Given the description of an element on the screen output the (x, y) to click on. 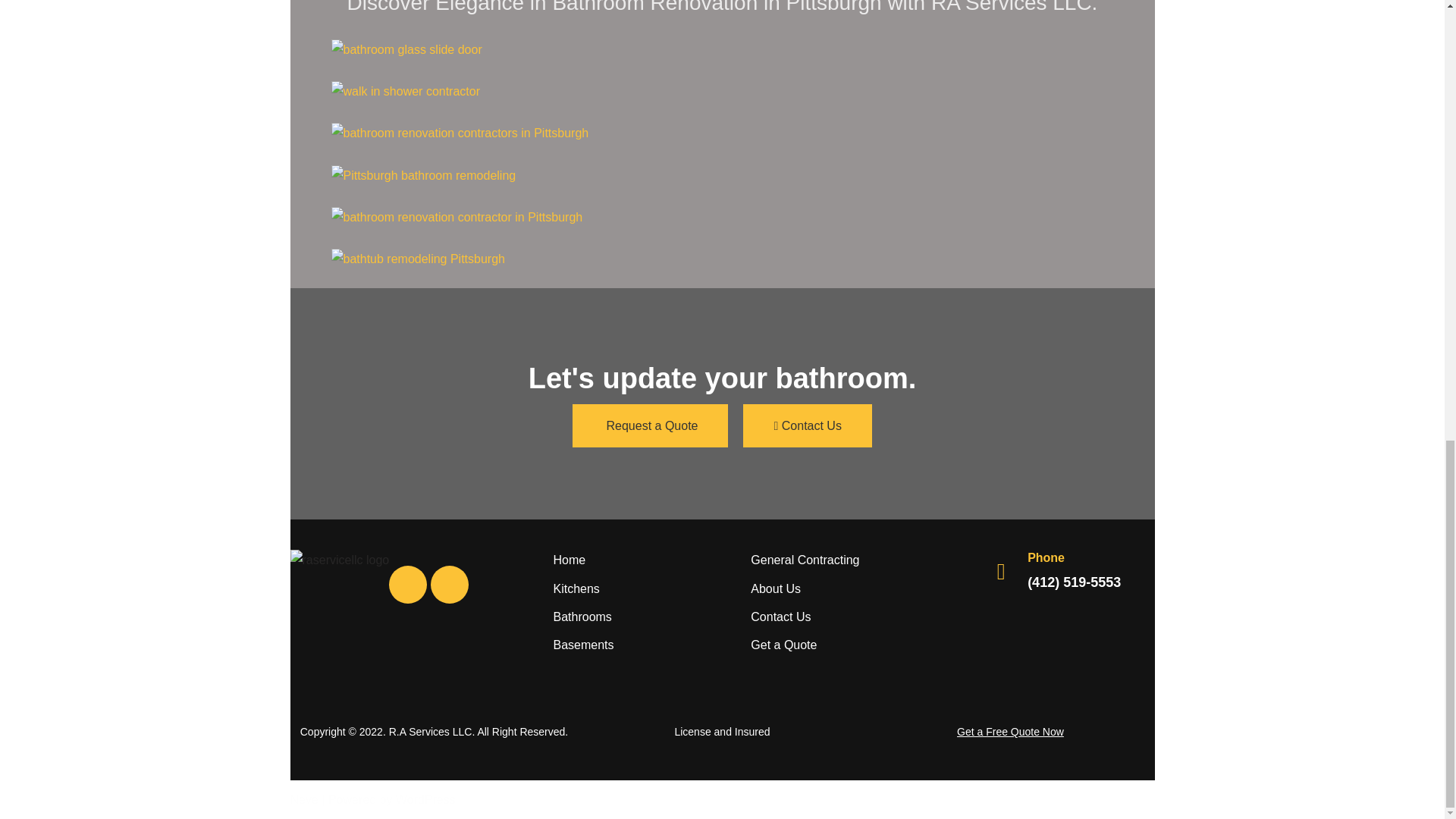
Request a Quote (650, 425)
